Given the description of an element on the screen output the (x, y) to click on. 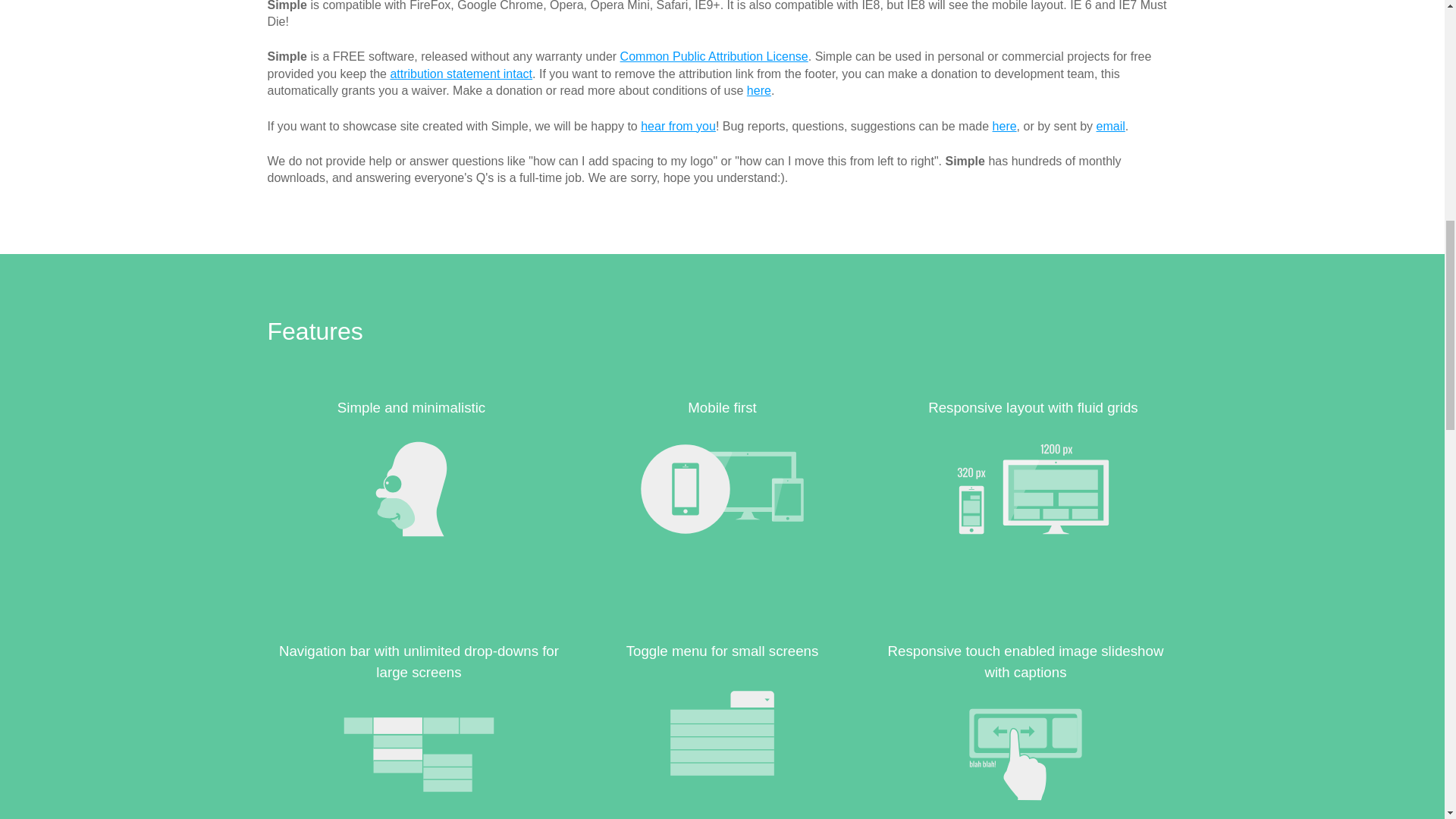
here (758, 90)
email (1110, 125)
Common Public Attribution License (714, 56)
hear from you (678, 125)
here (1004, 125)
attribution statement intact (461, 73)
